Given the description of an element on the screen output the (x, y) to click on. 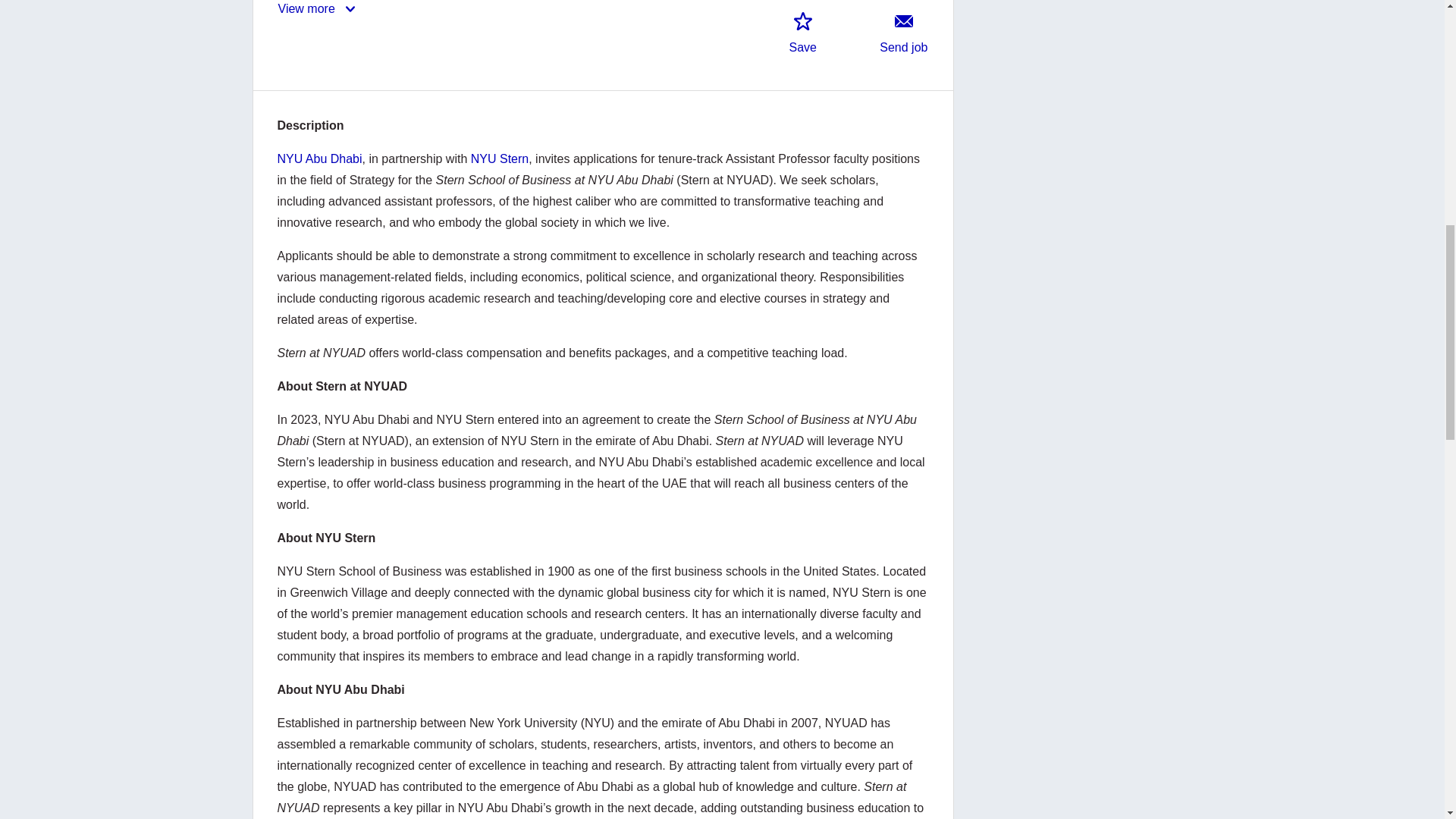
3rd party ad content (1080, 788)
3rd party ad content (1080, 609)
View more (318, 13)
3rd party ad content (1080, 706)
3rd party ad content (1080, 511)
